Given the description of an element on the screen output the (x, y) to click on. 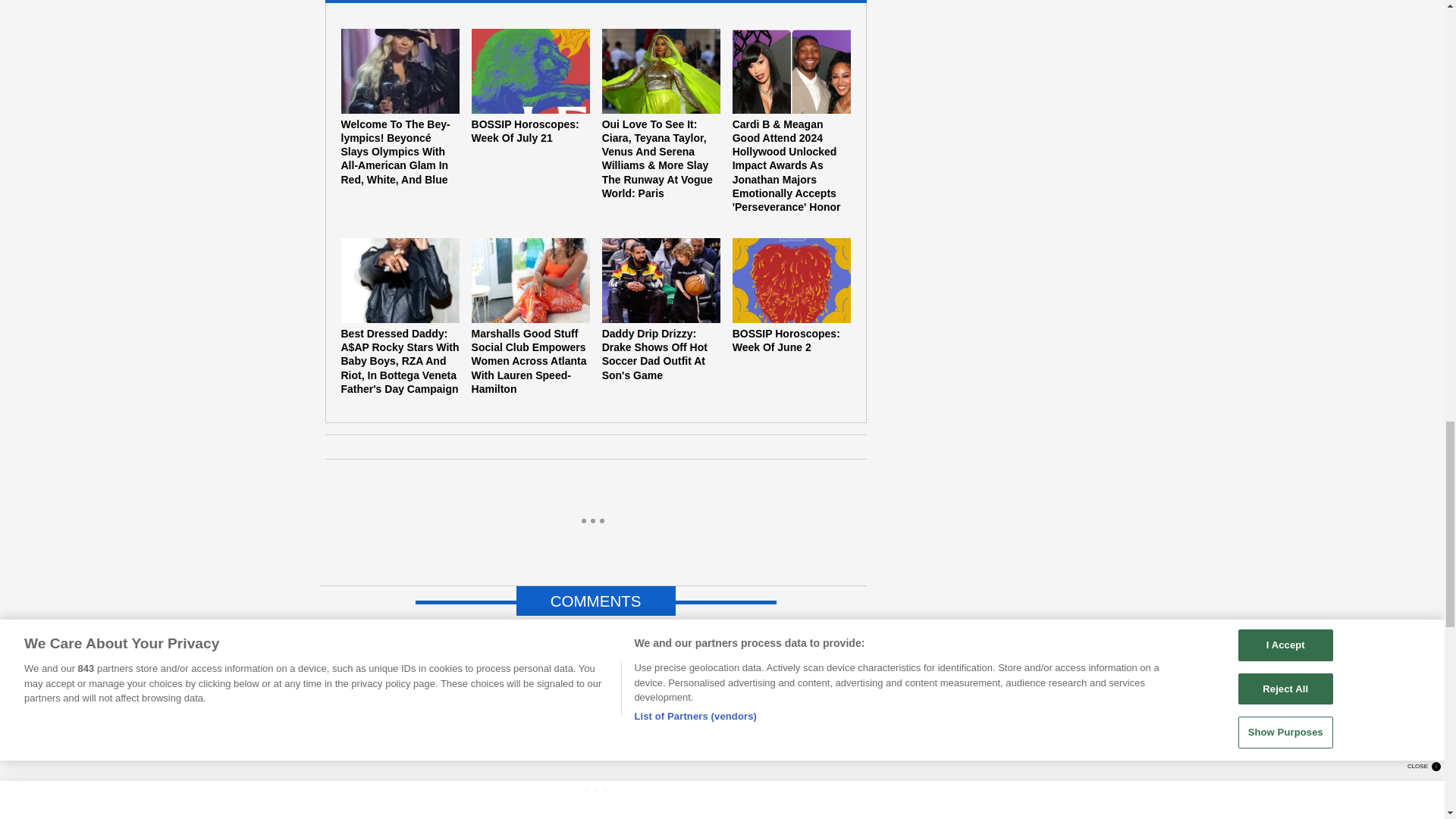
BOSSIP Horoscopes: Week Of July 21 (530, 86)
